Given the description of an element on the screen output the (x, y) to click on. 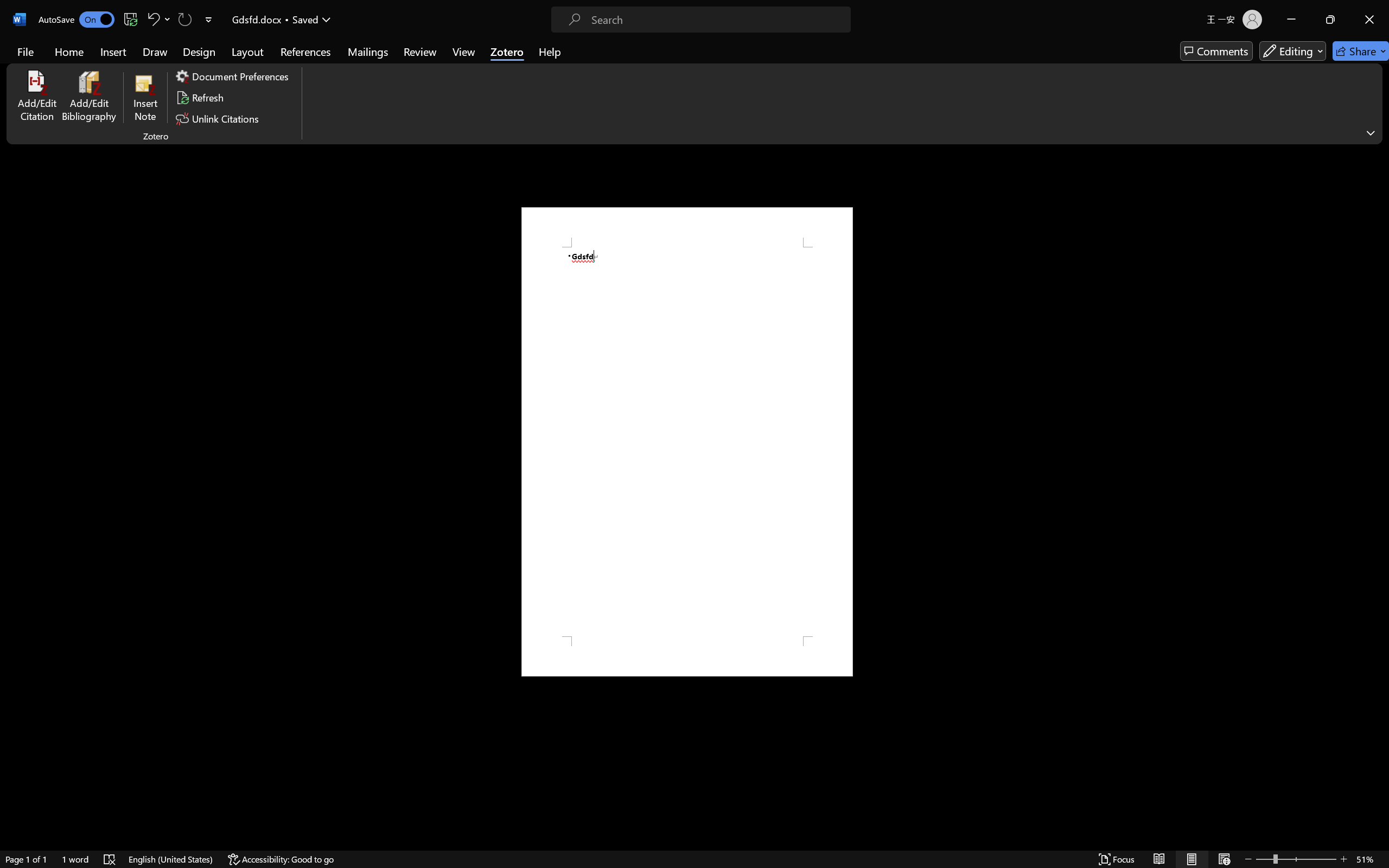
Page 1 content (686, 441)
